Given the description of an element on the screen output the (x, y) to click on. 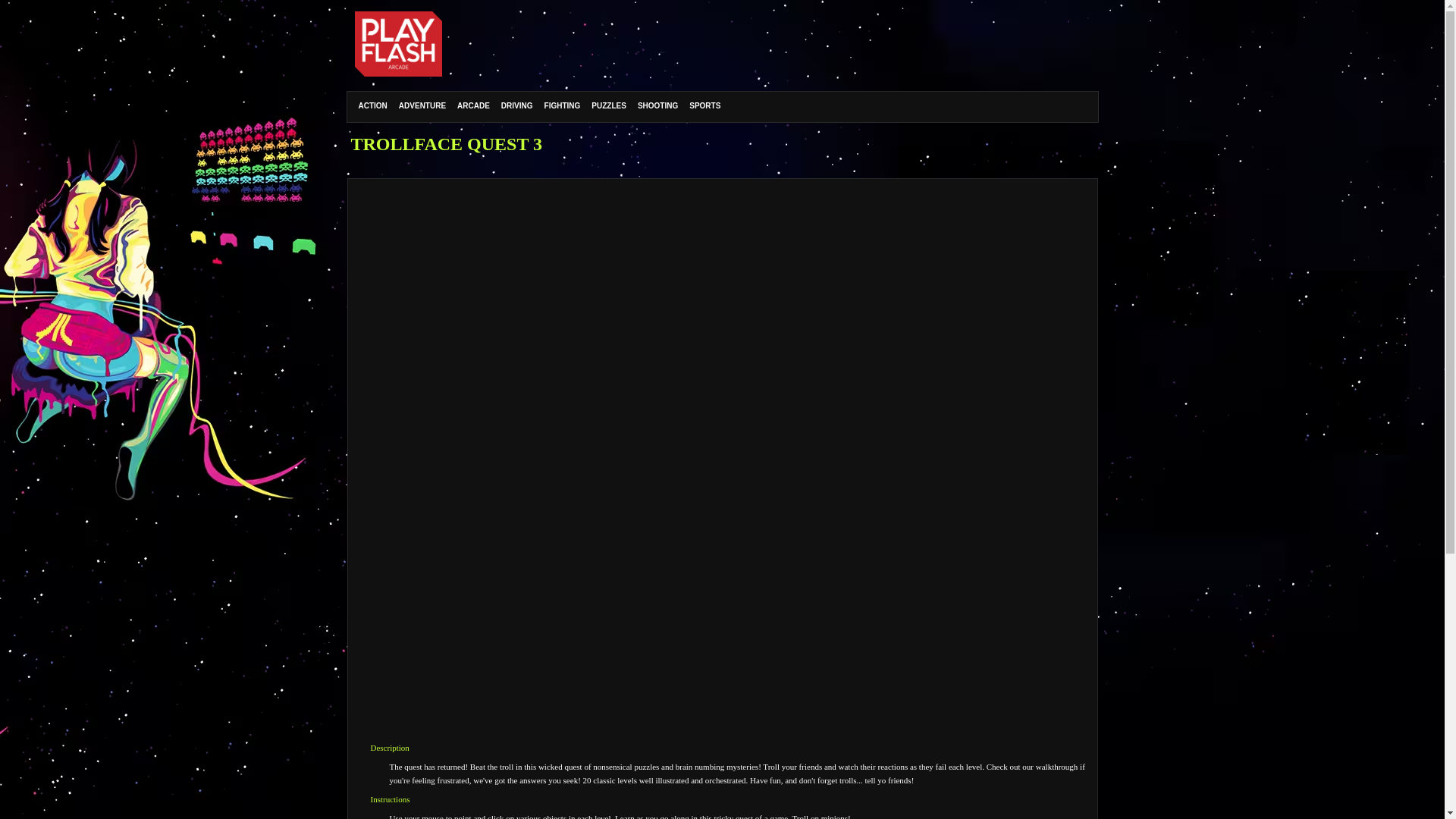
SHOOTING (657, 105)
ADVENTURE (421, 105)
Advertisement (814, 43)
PUZZLES (609, 105)
DRIVING (517, 105)
ARCADE (472, 105)
ACTION (373, 105)
SPORTS (704, 105)
Advertisement (721, 699)
FIGHTING (562, 105)
